Given the description of an element on the screen output the (x, y) to click on. 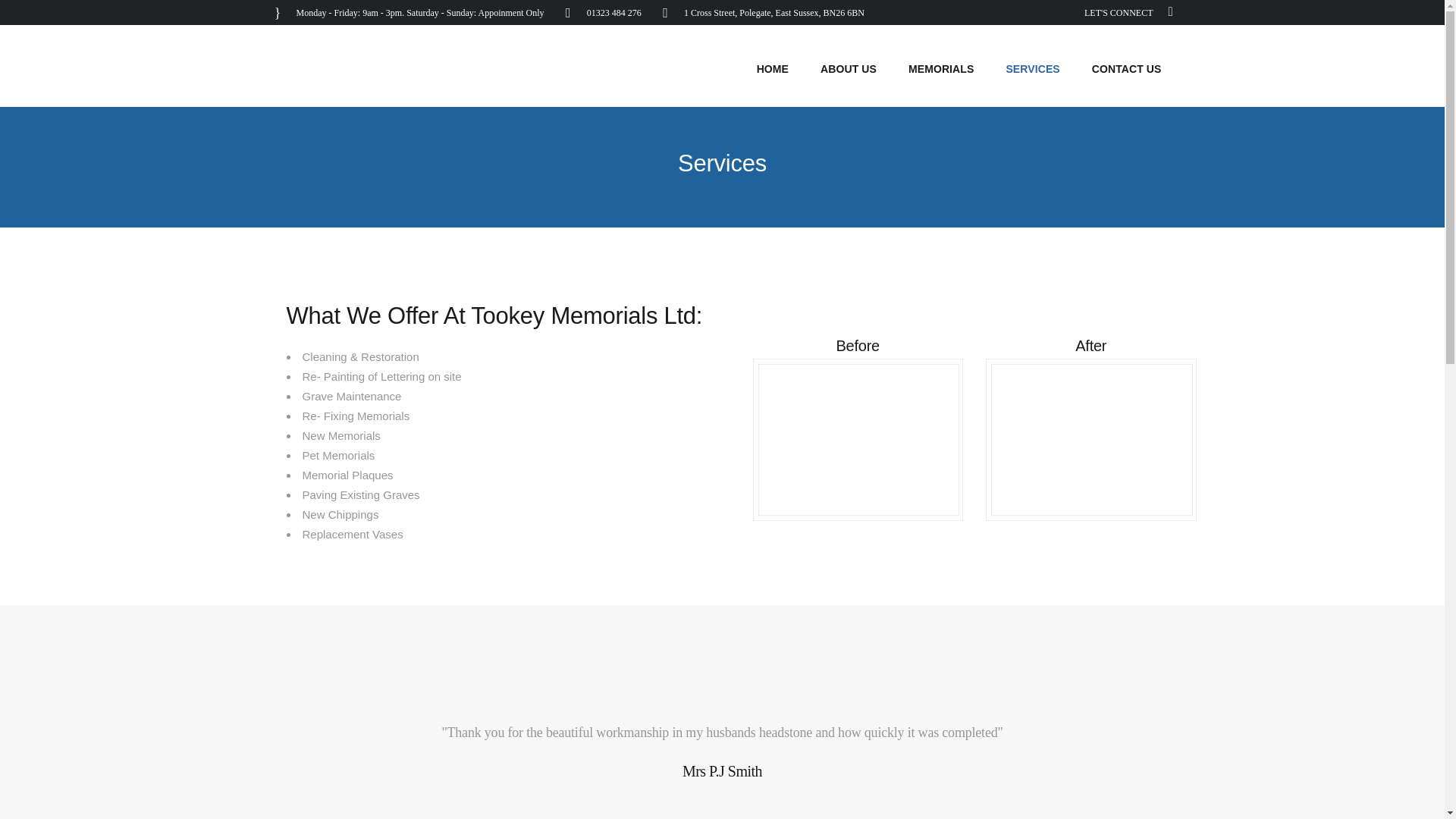
ABOUT US (848, 69)
MEMORIALS (941, 69)
CONTACT US (1126, 69)
SERVICES (1032, 69)
HOME (773, 69)
after-services (1091, 439)
before-services (858, 439)
